Given the description of an element on the screen output the (x, y) to click on. 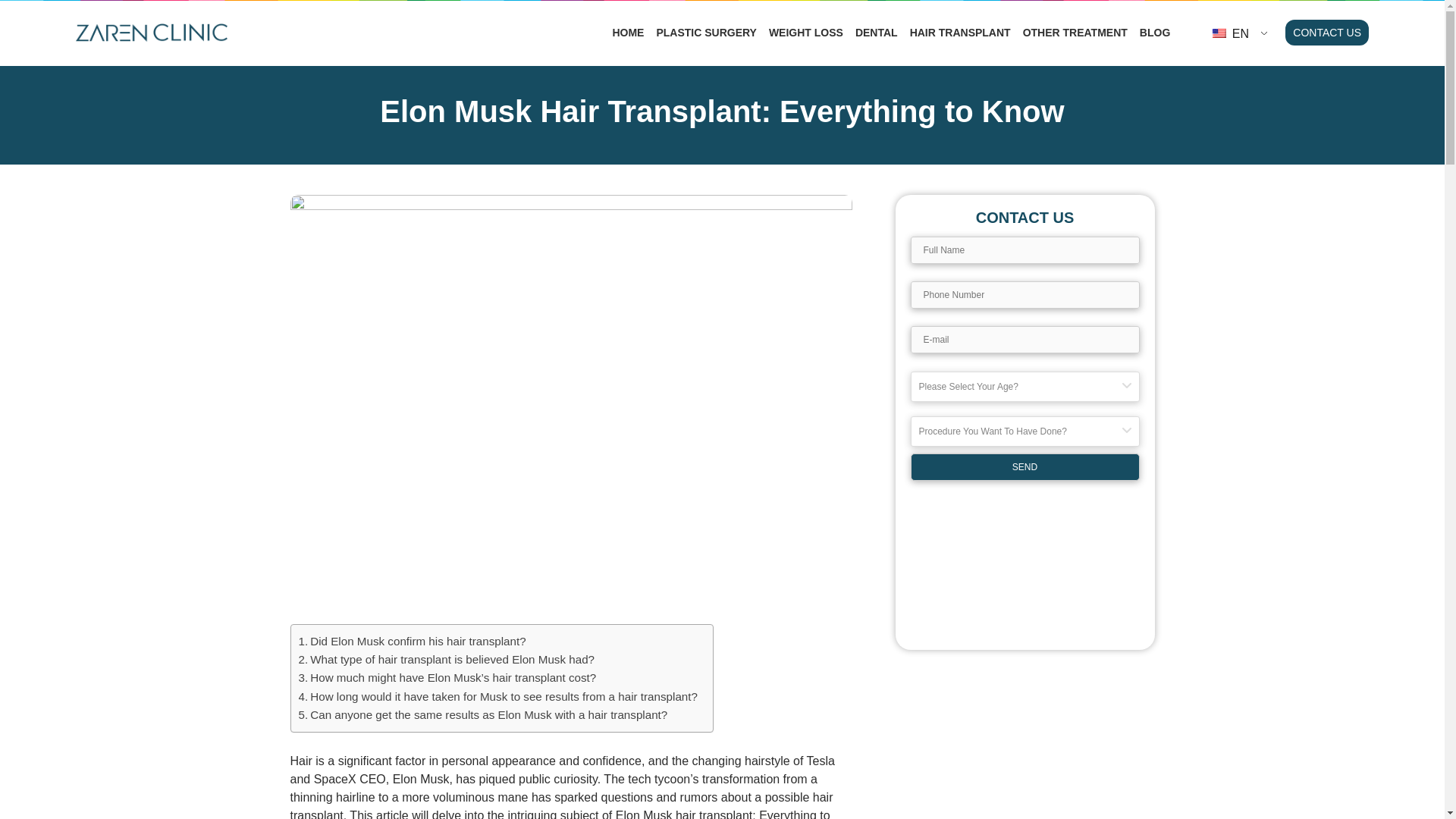
EN (1233, 33)
HAIR TRANSPLANT (960, 32)
DENTAL (876, 32)
English (1218, 32)
HOME (627, 32)
OTHER TREATMENT (1075, 32)
BLOG (1155, 32)
CONTACT US (1326, 32)
